Given the description of an element on the screen output the (x, y) to click on. 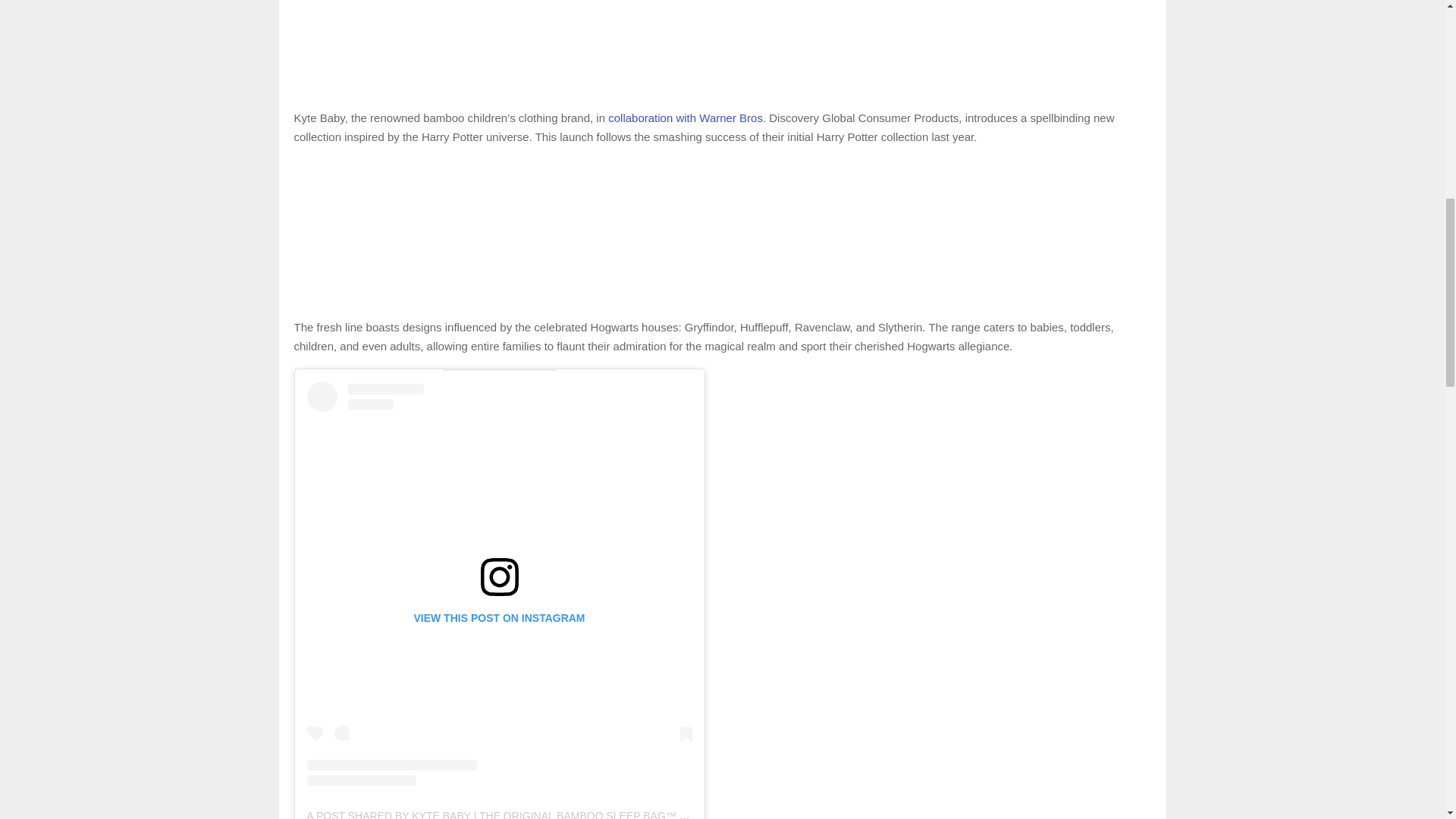
Advertisement (722, 46)
Advertisement (722, 235)
collaboration with Warner Bros (685, 117)
